Given the description of an element on the screen output the (x, y) to click on. 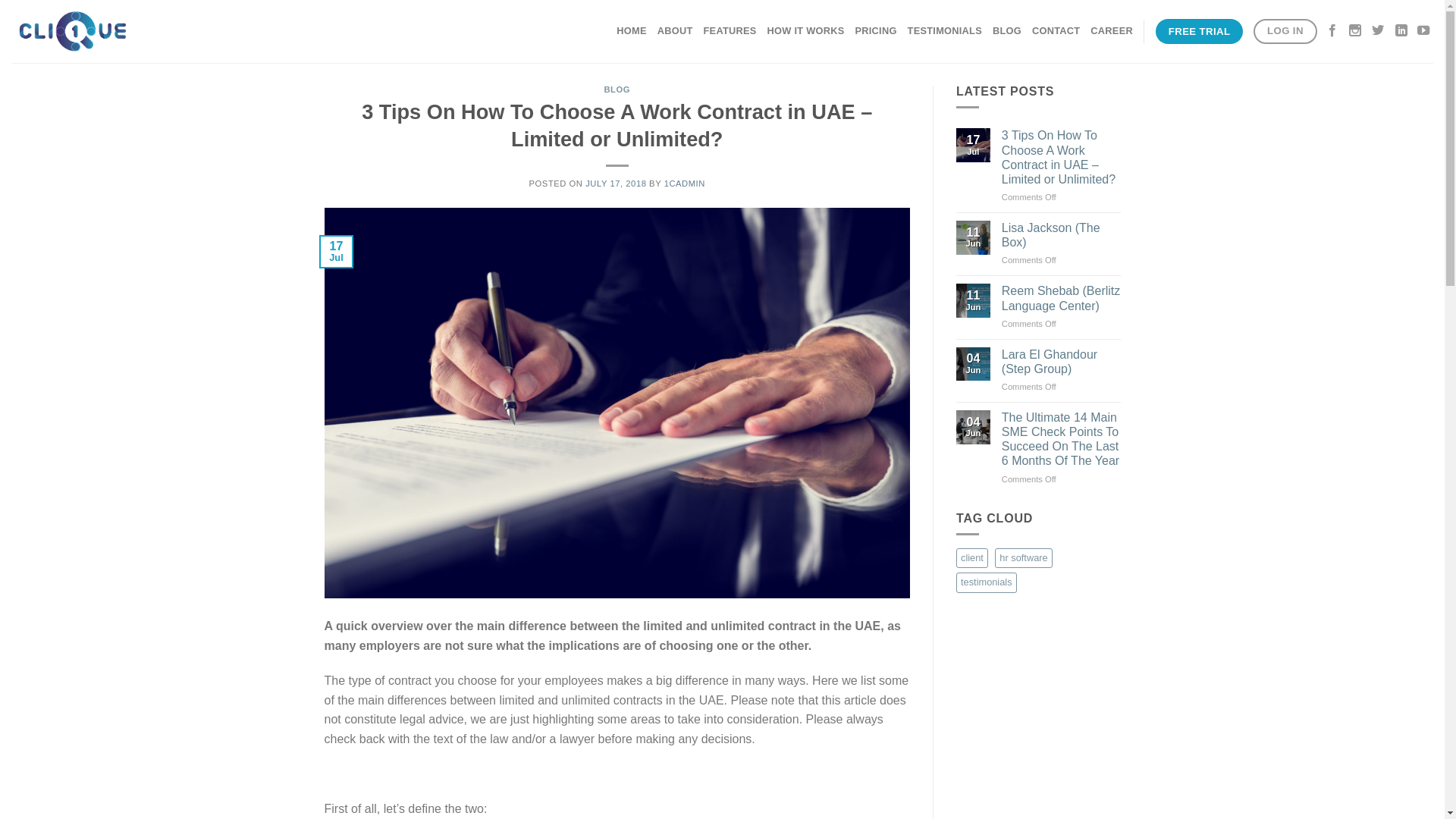
FEATURES Element type: text (729, 30)
TESTIMONIALS Element type: text (944, 30)
Skip to content Element type: text (0, 0)
BLOG Element type: text (616, 89)
testimonials Element type: text (986, 582)
HOME Element type: text (631, 30)
1CADMIN Element type: text (684, 183)
Reem Shebab (Berlitz Language Center) Element type: text (1060, 297)
Lisa Jackson (The Box) Element type: text (1060, 234)
JULY 17, 2018 Element type: text (615, 183)
Lara El Ghandour (Step Group) Element type: text (1060, 361)
CAREER Element type: text (1111, 30)
FREE TRIAL Element type: text (1198, 31)
BLOG Element type: text (1006, 30)
hr software Element type: text (1022, 557)
PRICING Element type: text (875, 30)
CONTACT Element type: text (1055, 30)
LOG IN Element type: text (1284, 30)
ABOUT Element type: text (675, 30)
HOW IT WORKS Element type: text (805, 30)
client Element type: text (972, 557)
